Given the description of an element on the screen output the (x, y) to click on. 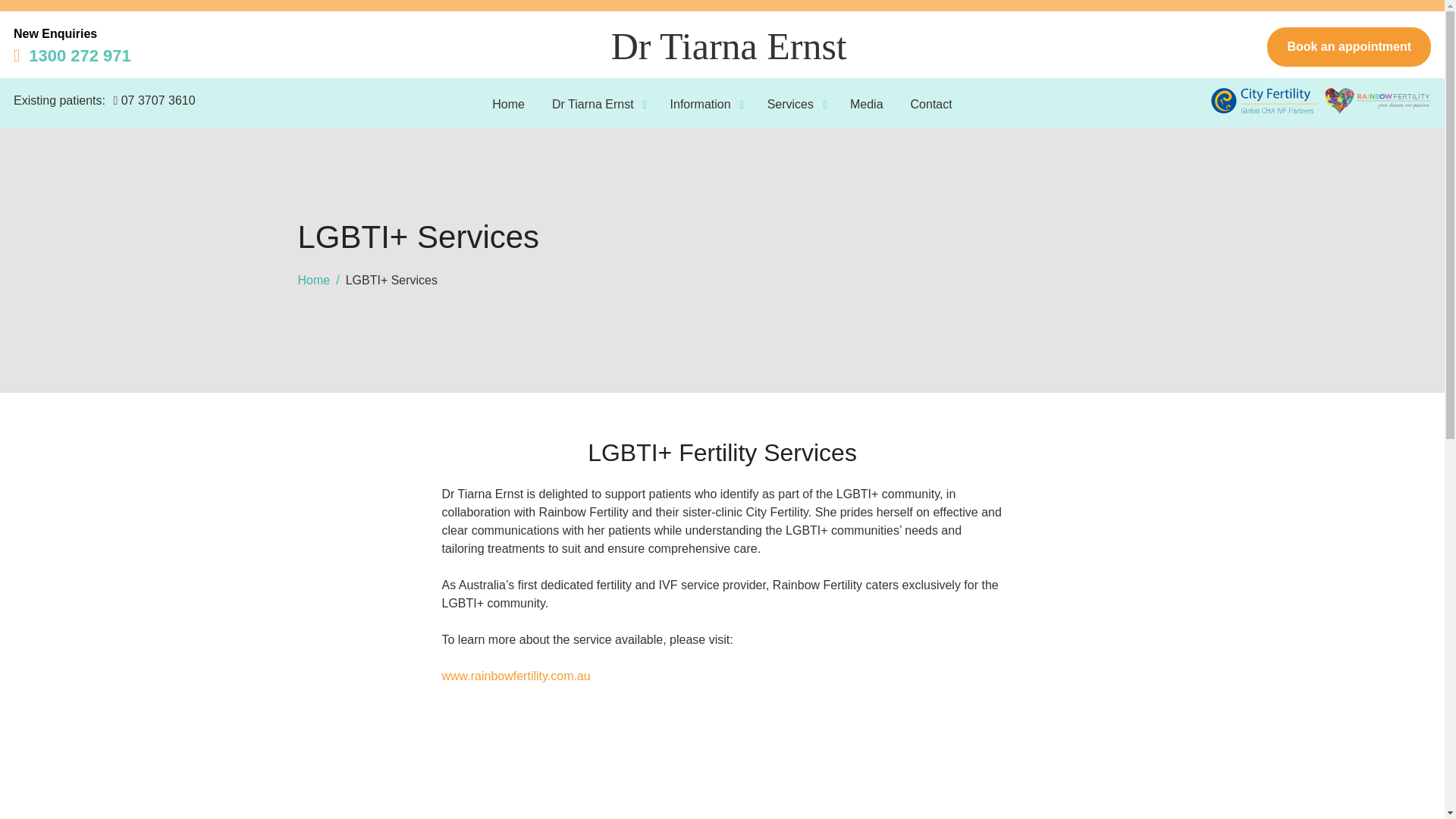
Dr Tiarna Ernst (729, 46)
Information (693, 104)
Dr Tiarna Ernst (585, 104)
Dr Tiarna Ernst (729, 46)
www.rainbowfertility.com.au (515, 675)
07 3707 3610 (151, 100)
Contact (931, 104)
Home (508, 104)
Services (783, 104)
Media (865, 104)
Book an appointment (1348, 46)
Home (313, 279)
